Given the description of an element on the screen output the (x, y) to click on. 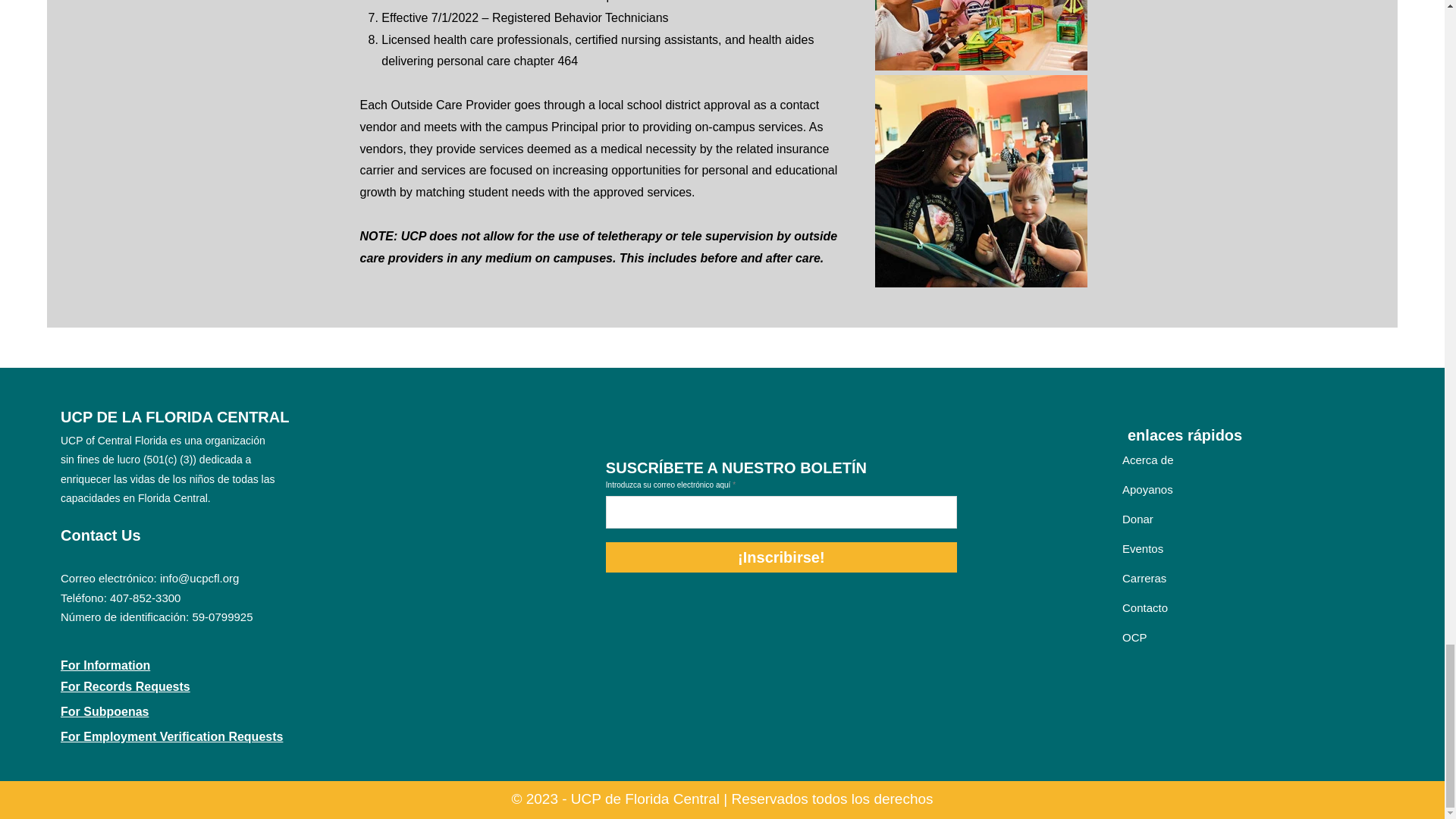
For Records Requests (125, 686)
For Employment Verification Requests (171, 736)
Acerca de (1147, 459)
For Subpoenas (104, 711)
For Information (105, 665)
